Given the description of an element on the screen output the (x, y) to click on. 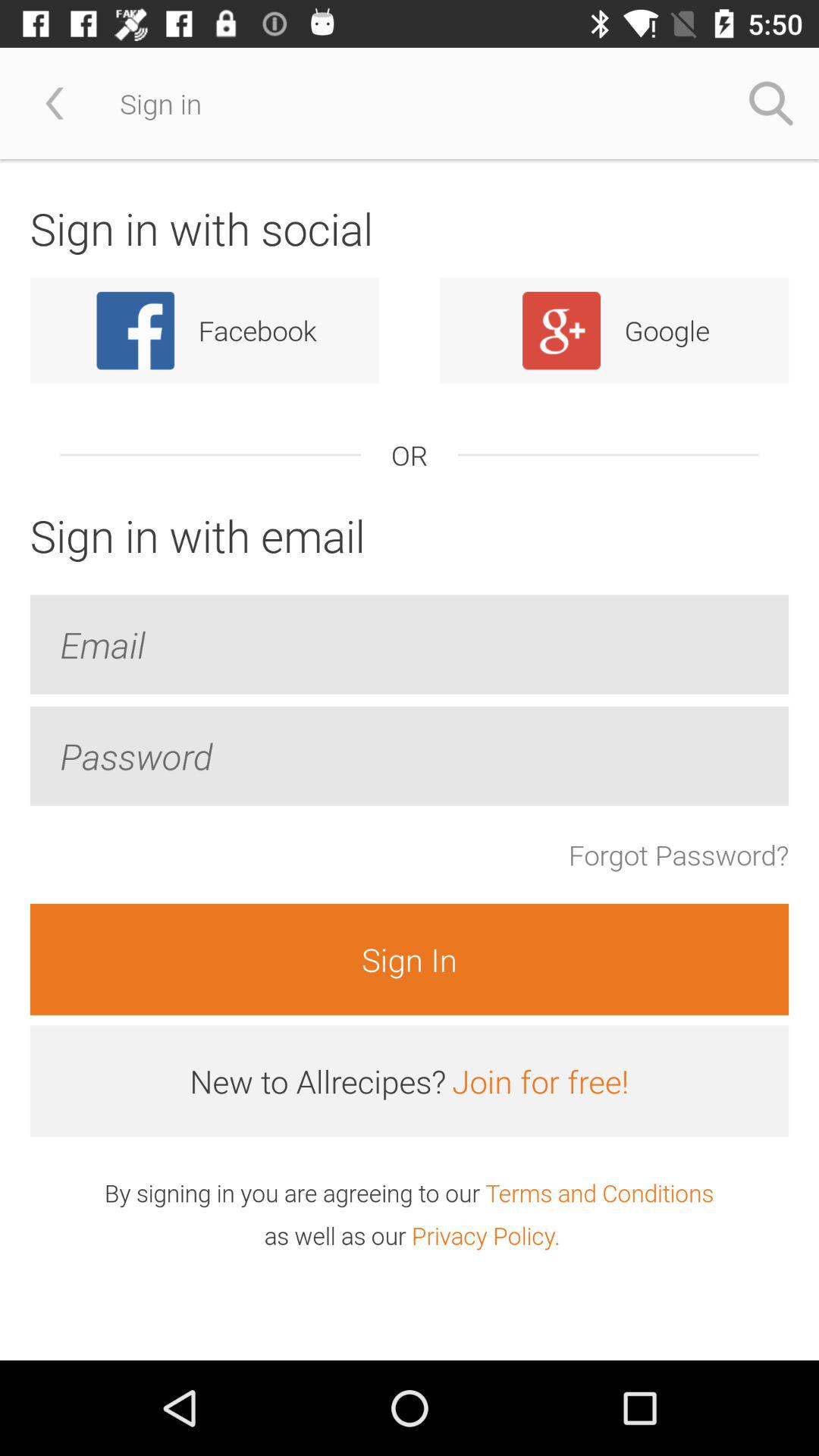
launch the item below the by signing in (485, 1235)
